Given the description of an element on the screen output the (x, y) to click on. 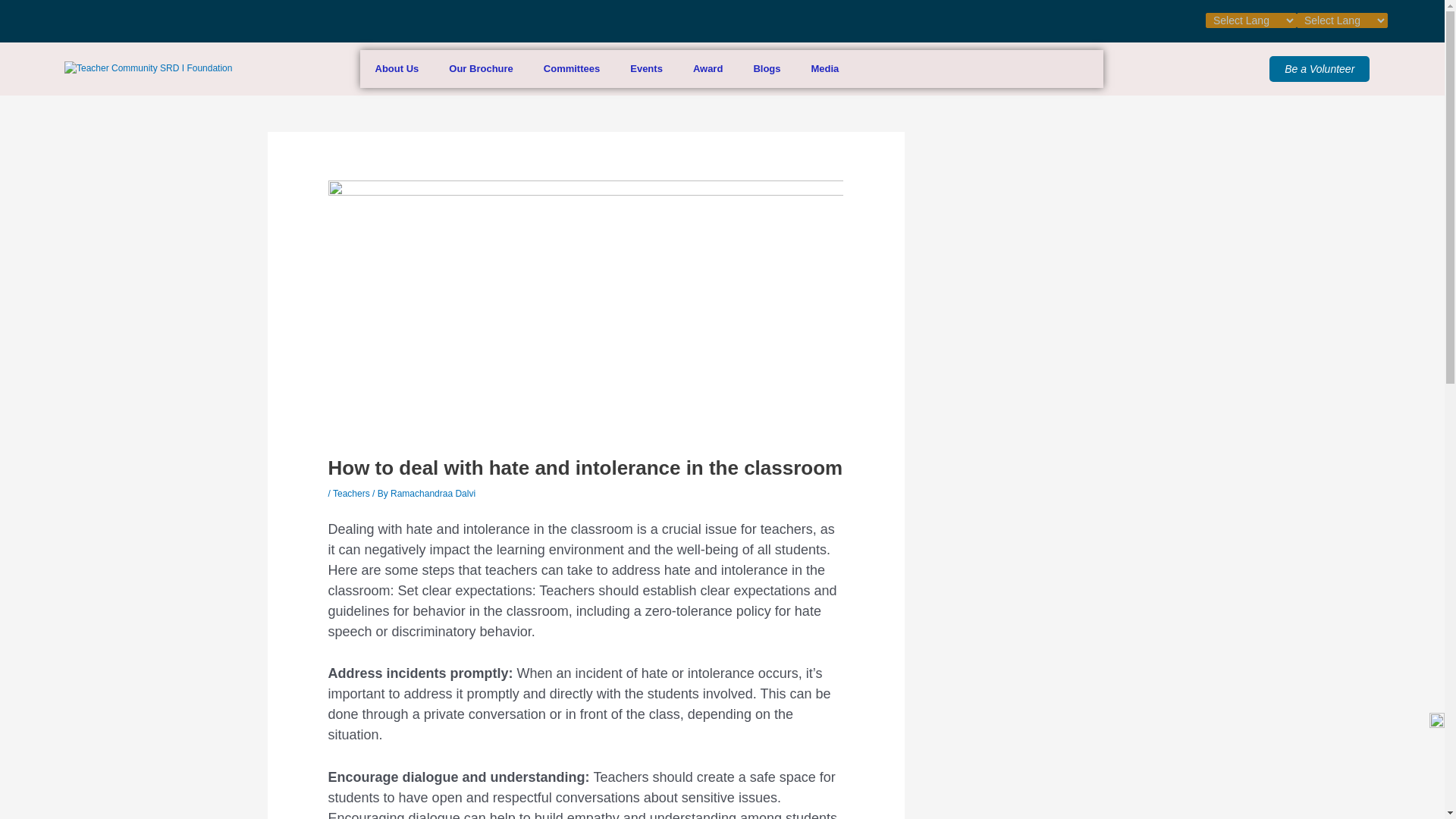
View all posts by Ramachandraa Dalvi (433, 493)
About Us (396, 68)
Committees (571, 68)
Award (708, 68)
Blogs (766, 68)
Teachers (351, 493)
Media (825, 68)
Ramachandraa Dalvi (433, 493)
Our Brochure (480, 68)
Events (646, 68)
Be a Volunteer (1319, 68)
